Given the description of an element on the screen output the (x, y) to click on. 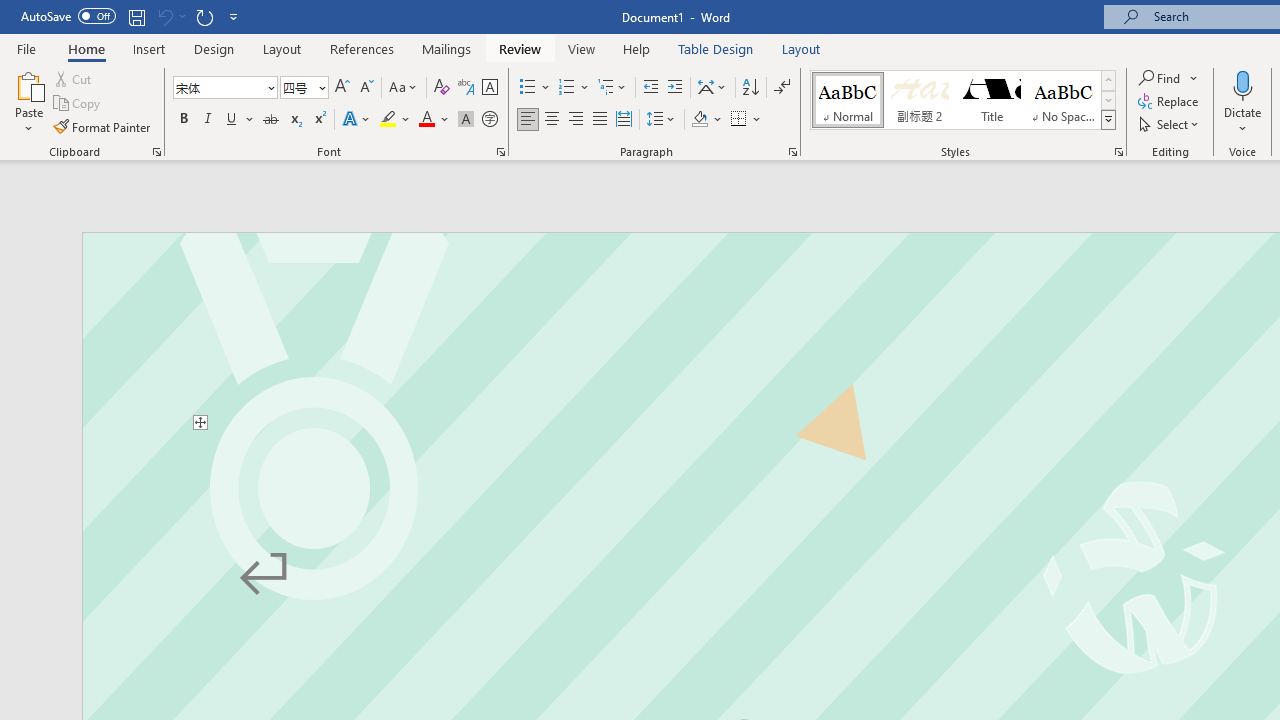
Open (320, 87)
Text Effects and Typography (357, 119)
Align Right (575, 119)
Subscript (294, 119)
Show/Hide Editing Marks (781, 87)
Text Highlight Color Yellow (388, 119)
Enclose Characters... (489, 119)
Character Shading (465, 119)
